Given the description of an element on the screen output the (x, y) to click on. 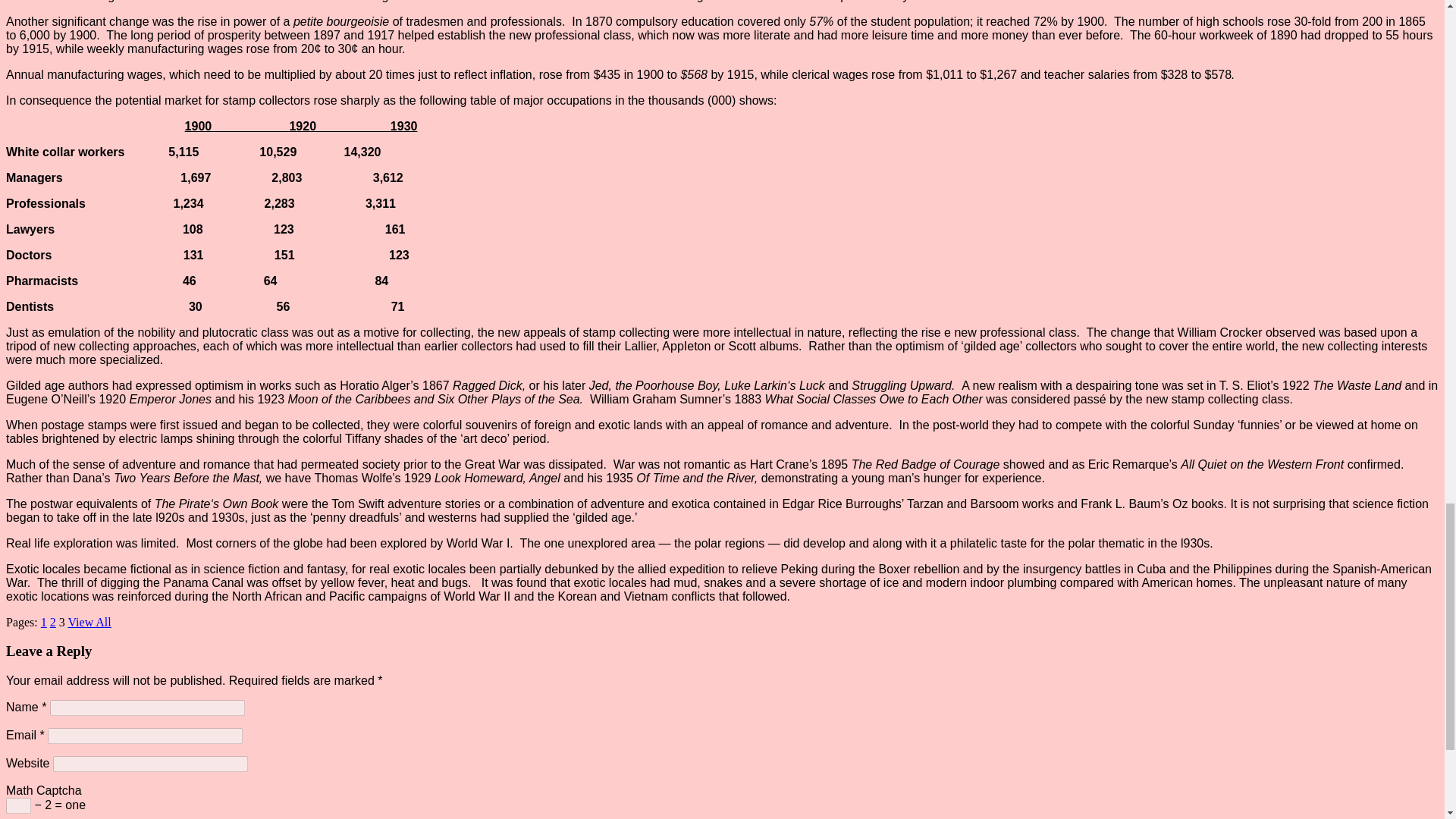
View All (90, 621)
